Given the description of an element on the screen output the (x, y) to click on. 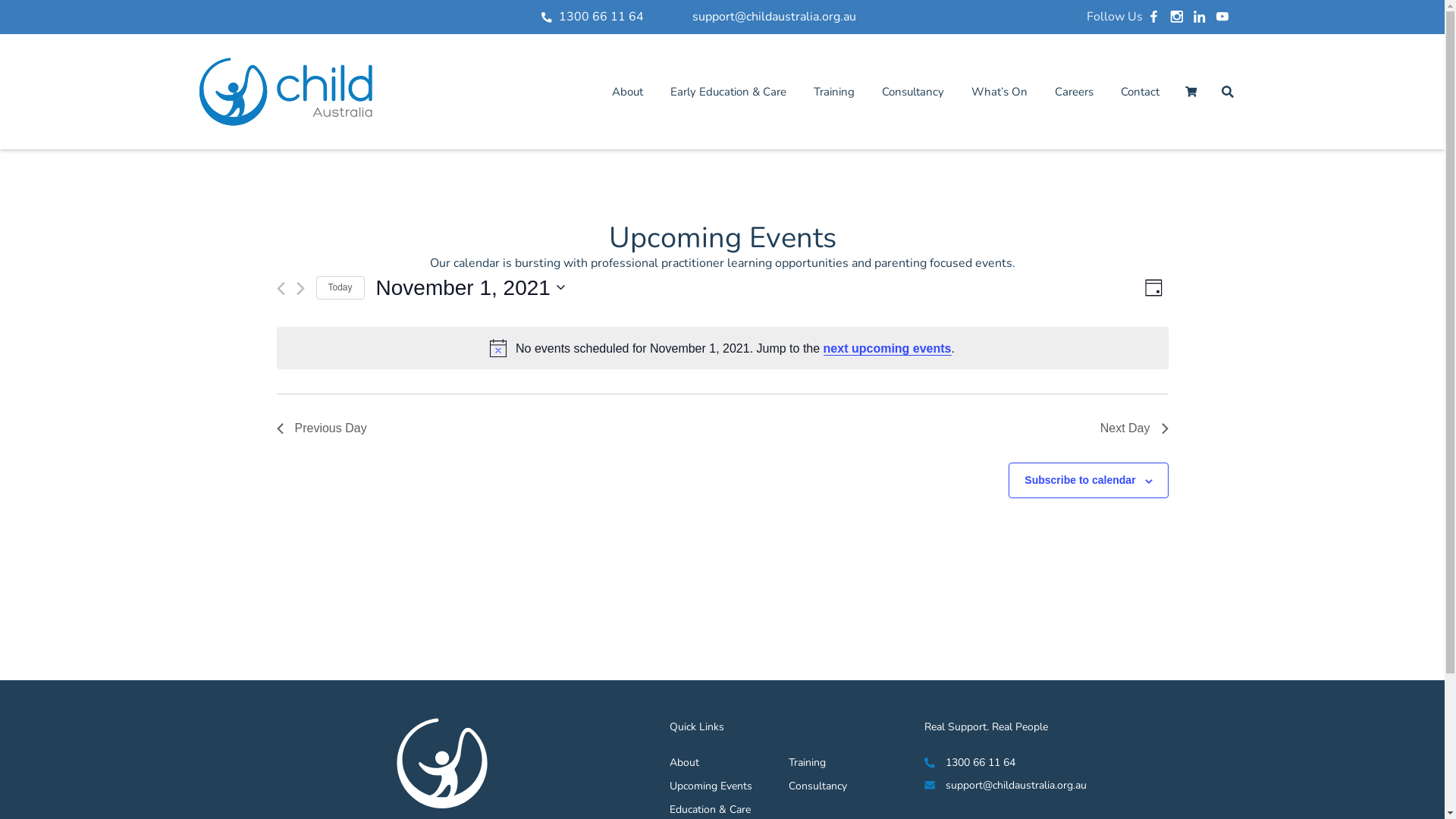
Contact Element type: text (1140, 91)
Previous Day Element type: text (321, 428)
About Element type: text (710, 762)
1300 66 11 64 Element type: text (937, 762)
Subscribe to calendar Element type: text (1079, 479)
support@childaustralia.org.au Element type: text (761, 17)
1300 66 11 64 Element type: text (588, 17)
Quick Links Element type: text (770, 726)
Today Element type: text (339, 287)
Training Element type: text (829, 762)
Early Education & Care Element type: text (728, 91)
support@childaustralia.org.au Element type: text (937, 784)
Education & Care Element type: text (710, 809)
Next Day Element type: text (1134, 428)
Consultancy Element type: text (912, 91)
November 1, 2021 Element type: text (470, 288)
Previous day Element type: hover (280, 288)
Careers Element type: text (1073, 91)
Day Element type: text (1153, 287)
Next day Element type: hover (299, 288)
Real Support. Real People Element type: text (986, 726)
Training Element type: text (833, 91)
Upcoming Events Element type: text (710, 785)
Search Element type: text (1226, 91)
next upcoming events Element type: text (887, 348)
Consultancy Element type: text (829, 785)
Basket Element type: text (1190, 91)
About Element type: text (626, 91)
